Given the description of an element on the screen output the (x, y) to click on. 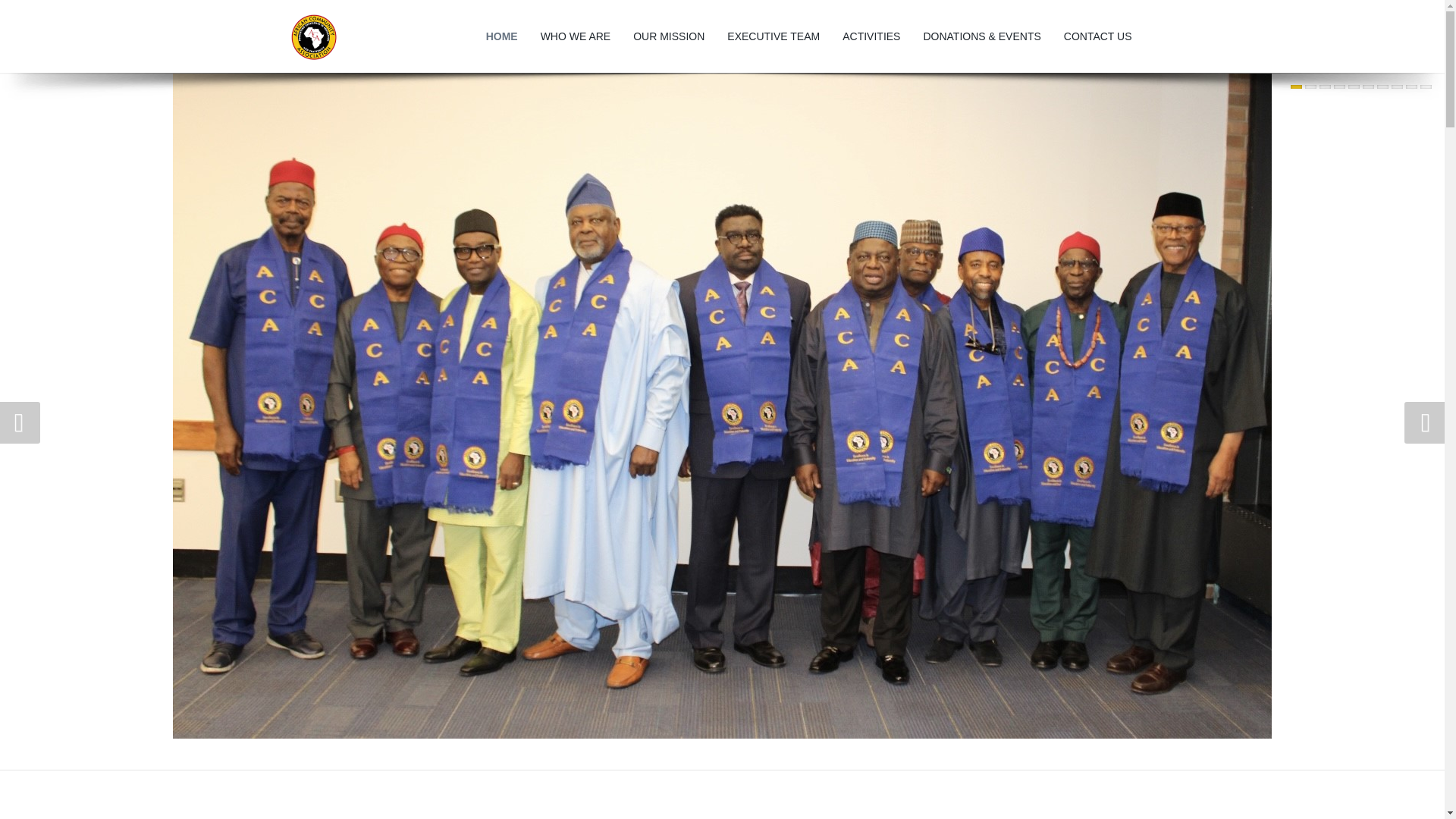
4 (1339, 86)
HOME (501, 36)
ACTIVITIES (871, 36)
CONTACT US (1097, 36)
OUR MISSION (668, 36)
2 (1310, 86)
10 (1426, 86)
5 (1353, 86)
7 (1383, 86)
8 (1397, 86)
6 (1368, 86)
3 (1324, 86)
1 (1295, 86)
9 (1411, 86)
WHO WE ARE (576, 36)
